Given the description of an element on the screen output the (x, y) to click on. 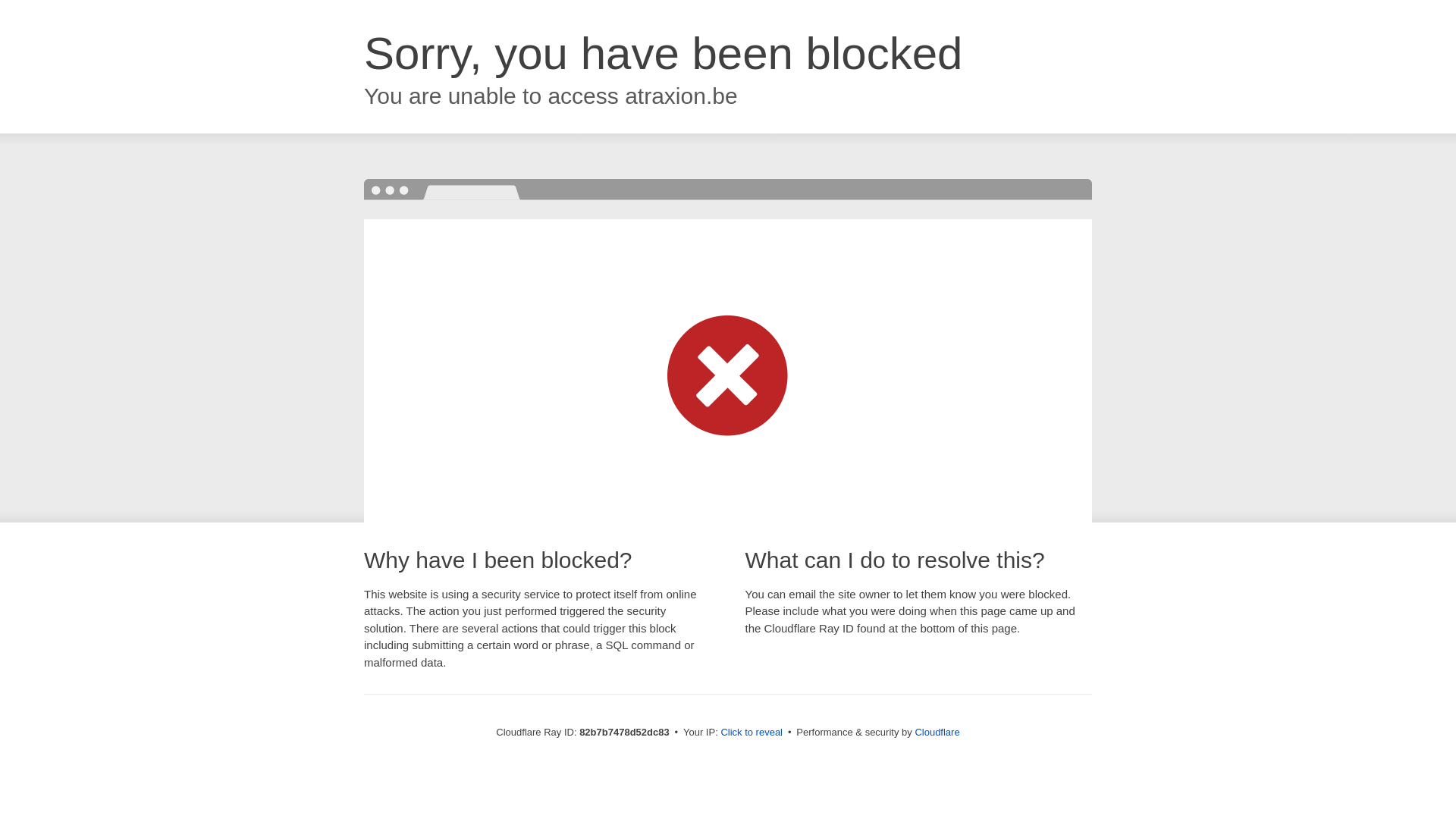
Click to reveal Element type: text (751, 732)
Cloudflare Element type: text (936, 731)
